Given the description of an element on the screen output the (x, y) to click on. 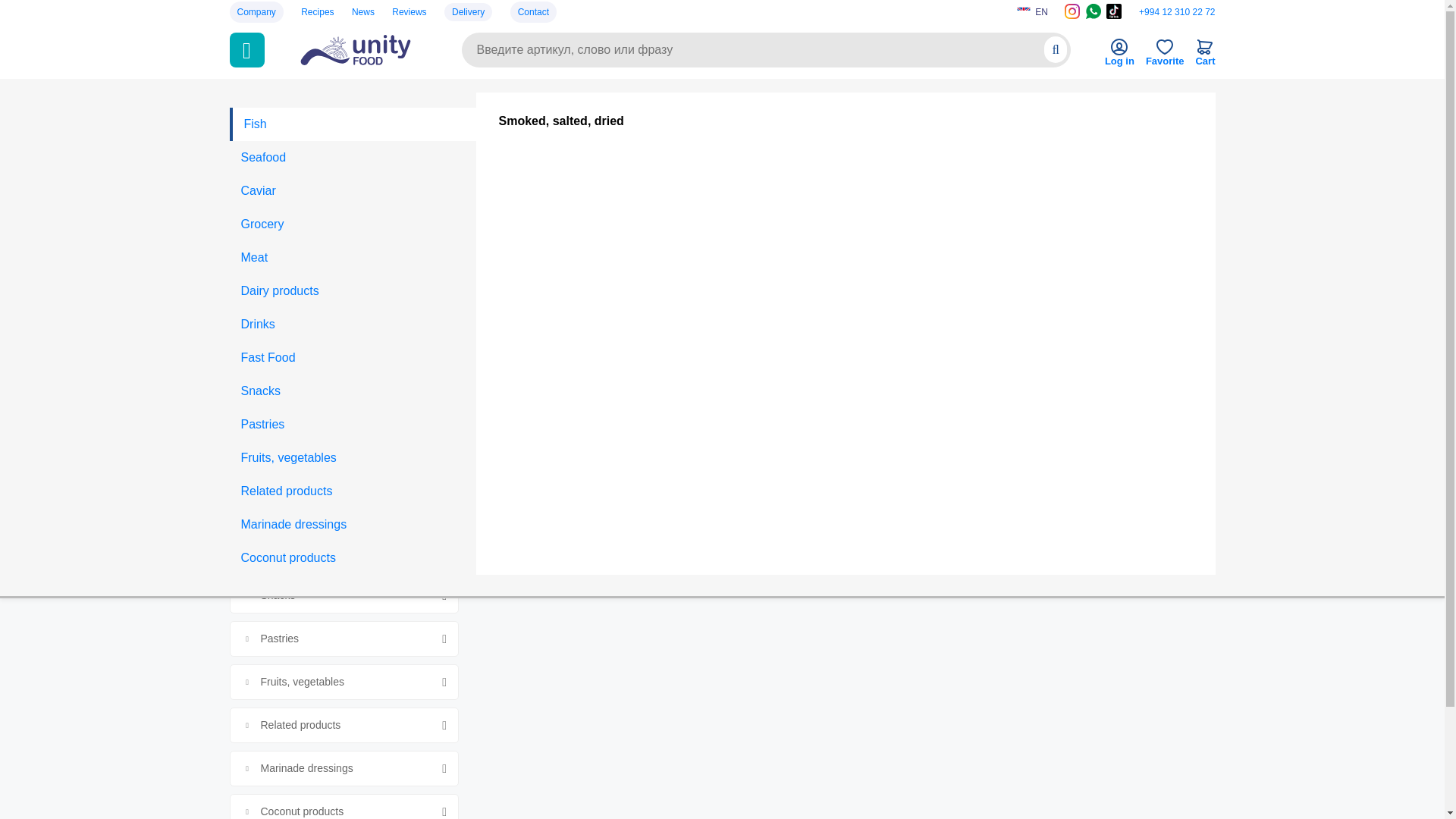
Fish (352, 123)
News (363, 11)
Dairy products (352, 290)
Pastries (352, 424)
Reviews (408, 11)
Contact (533, 11)
Favorite (1165, 55)
Cart (1204, 55)
Log in (1119, 55)
Delivery (468, 12)
